Given the description of an element on the screen output the (x, y) to click on. 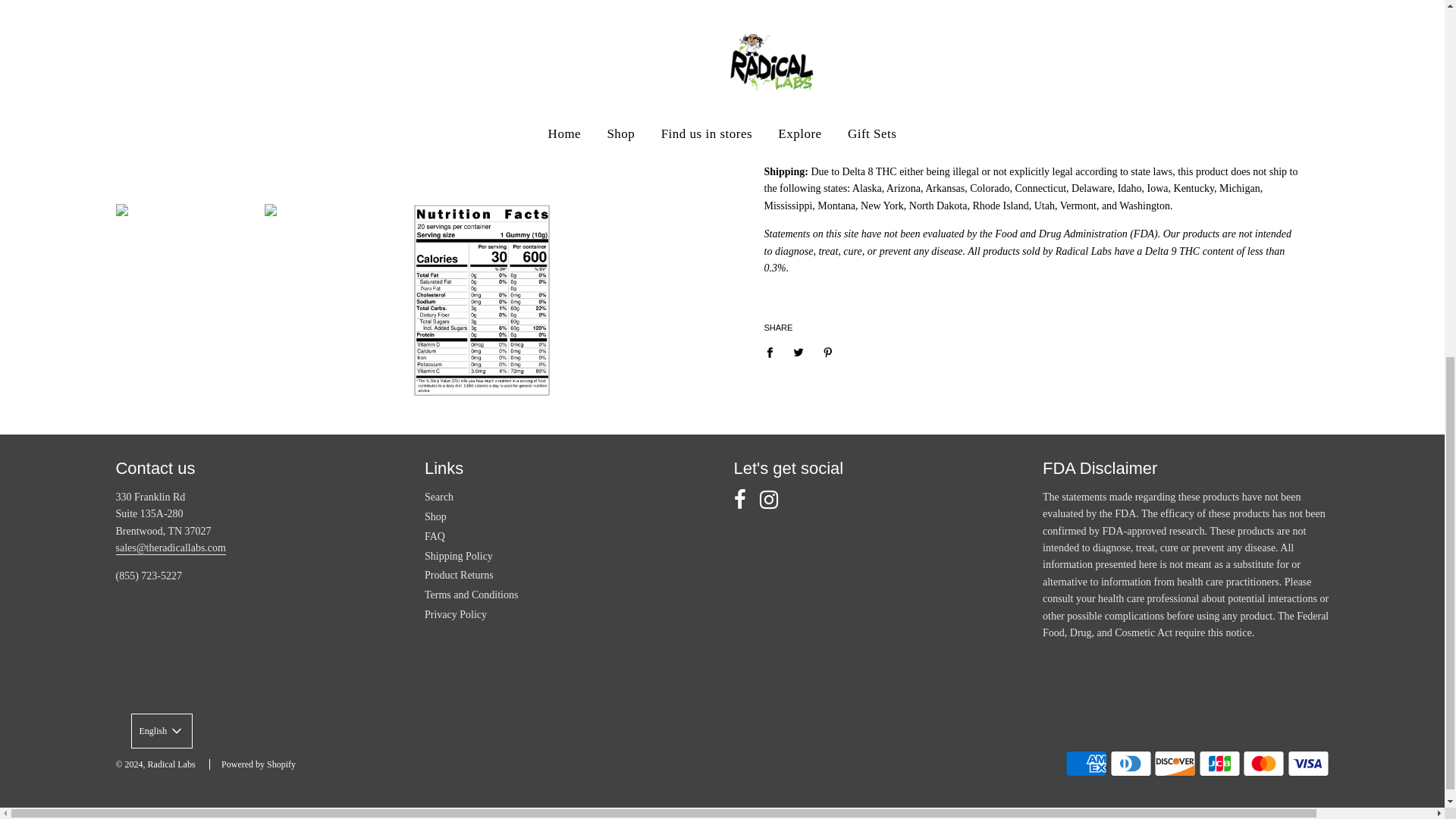
American Express (1085, 763)
JCB (1219, 763)
Diners Club (1130, 763)
Shop (435, 516)
Shipping Policy (459, 555)
Search (438, 496)
Visa (1308, 763)
Discover (1174, 763)
FAQ (435, 536)
Mastercard (1263, 763)
